Given the description of an element on the screen output the (x, y) to click on. 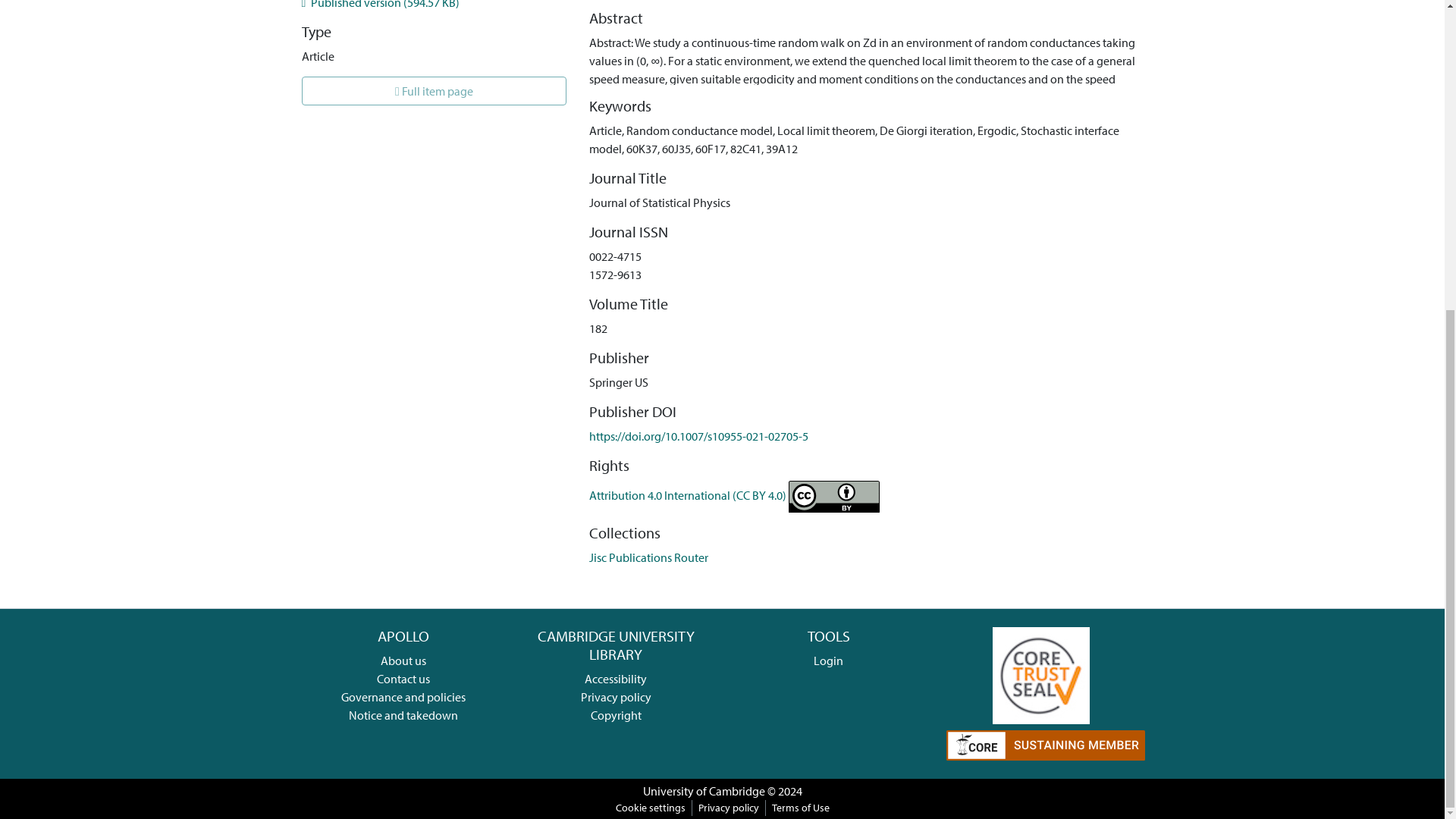
Privacy policy (615, 696)
Contact us (403, 678)
Jisc Publications Router (648, 557)
Full item page (434, 90)
Apollo CTS full application (1040, 673)
Notice and takedown (403, 714)
Accessibility (615, 678)
About us (403, 660)
Governance and policies (402, 696)
